Given the description of an element on the screen output the (x, y) to click on. 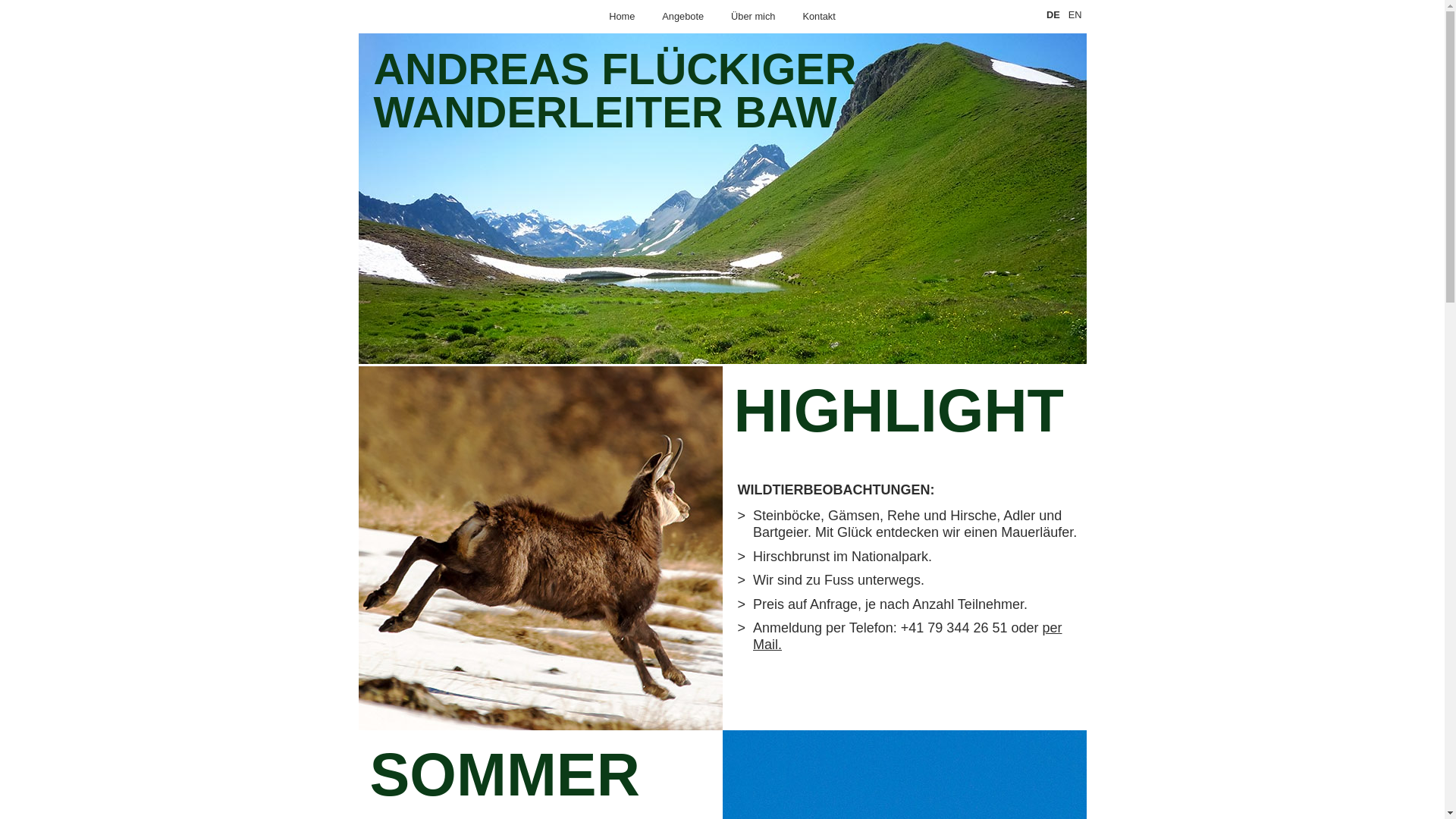
  Element type: text (370, 37)
Kontakt Element type: text (818, 16)
Home Element type: text (621, 16)
per Mail. Element type: text (907, 632)
EN Element type: text (1073, 14)
Angebote Element type: text (682, 16)
